Given the description of an element on the screen output the (x, y) to click on. 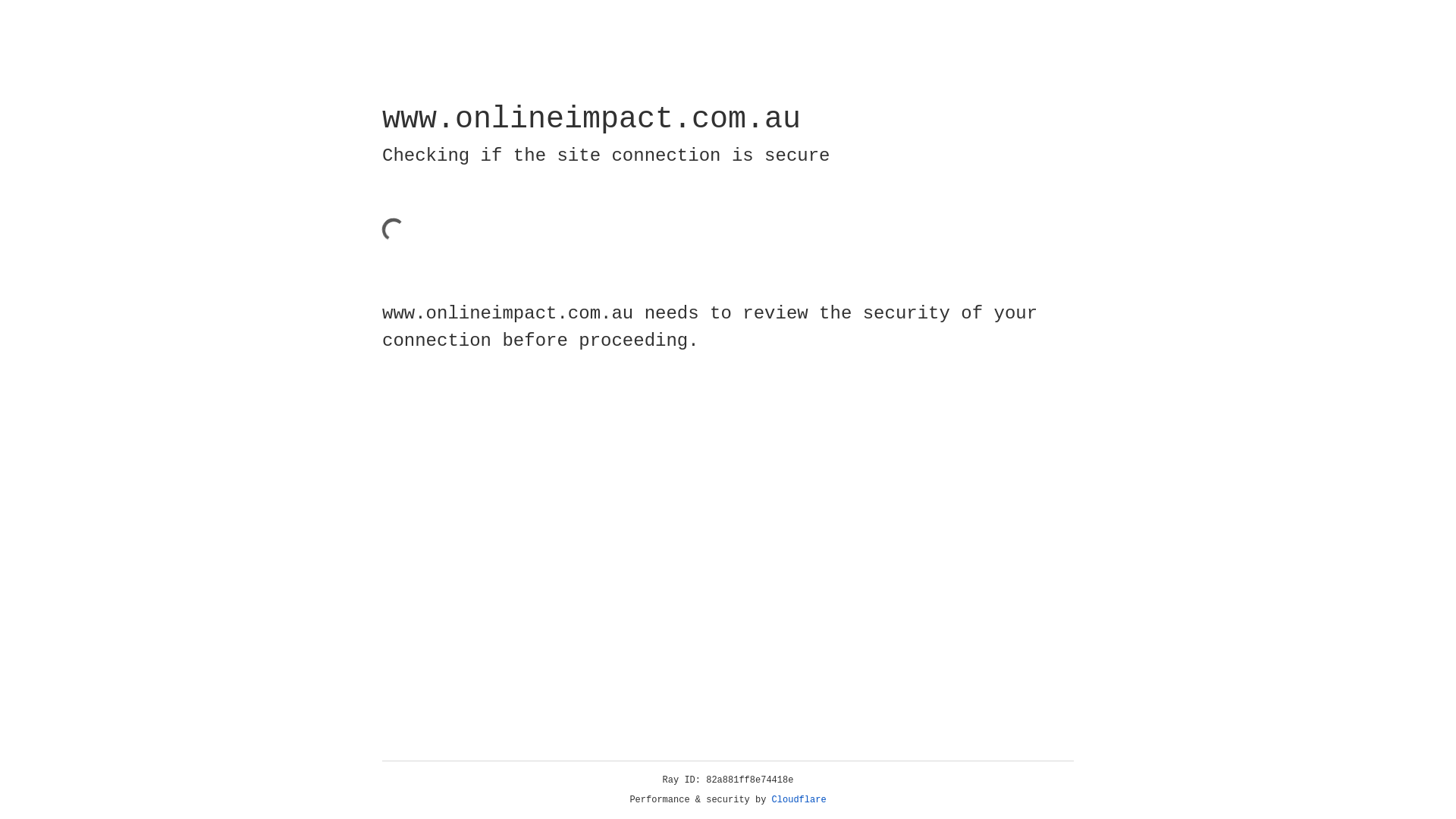
Cloudflare Element type: text (798, 799)
